Given the description of an element on the screen output the (x, y) to click on. 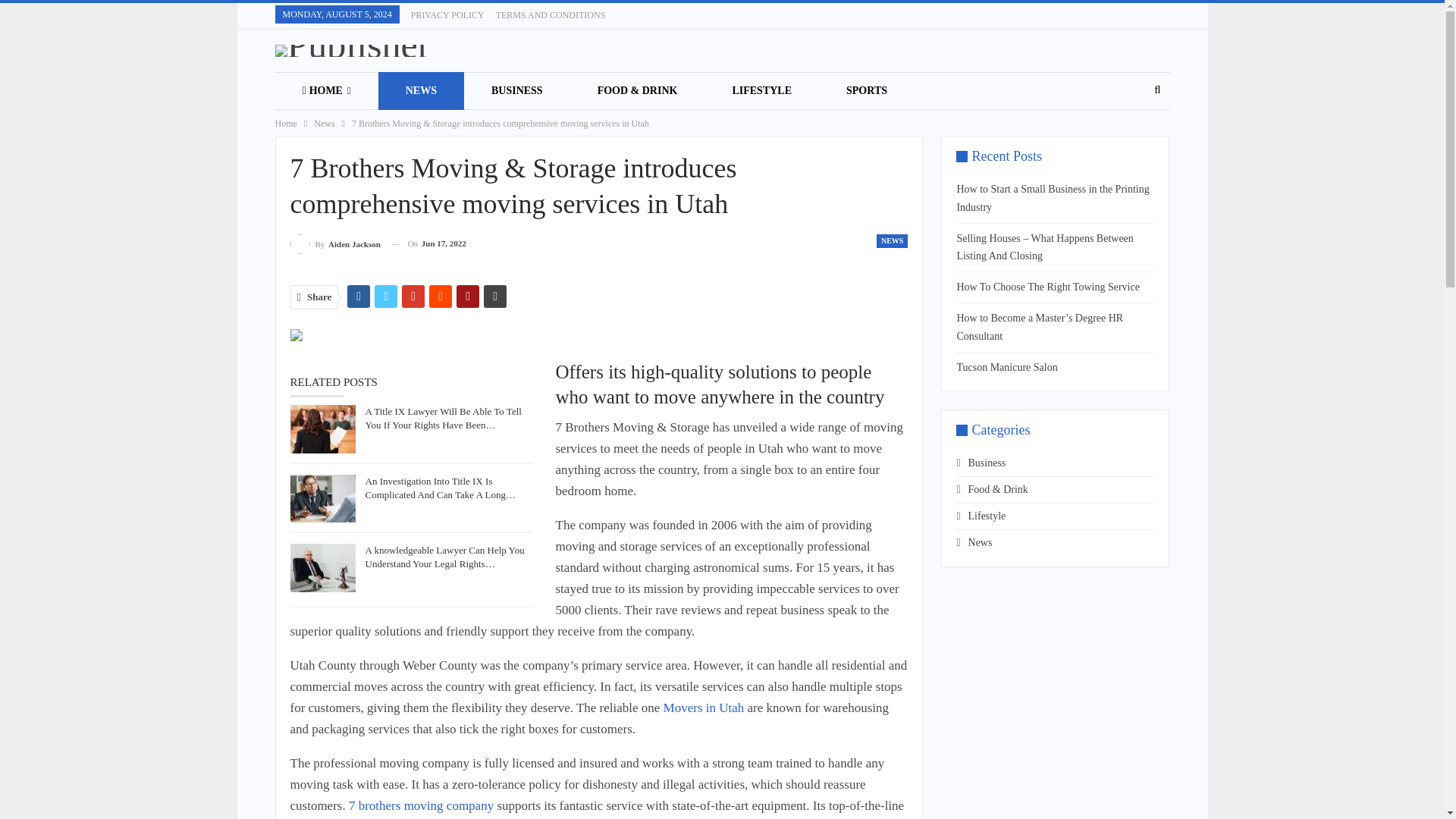
BUSINESS (517, 90)
By Aiden Jackson (334, 243)
PRIVACY POLICY (447, 14)
TERMS AND CONDITIONS (550, 14)
Movers in Utah (703, 707)
NEWS (891, 241)
7 brothers moving company (421, 805)
News (324, 123)
Home (286, 123)
LIFESTYLE (761, 90)
SPORTS (866, 90)
Browse Author Articles (334, 243)
